Given the description of an element on the screen output the (x, y) to click on. 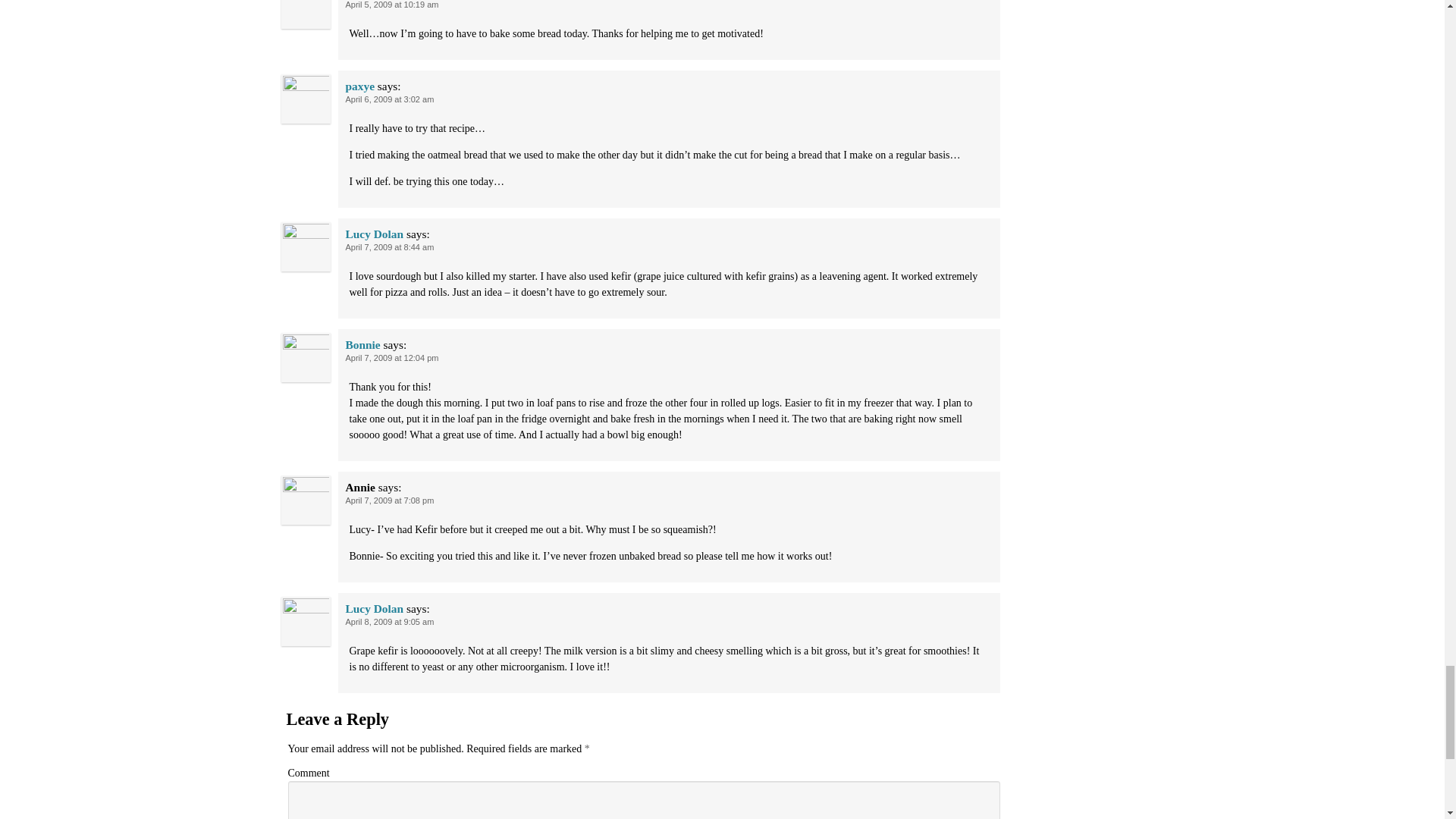
April 8, 2009 at 9:05 am (389, 621)
April 5, 2009 at 10:19 am (392, 4)
paxye (360, 85)
April 7, 2009 at 8:44 am (389, 246)
April 6, 2009 at 3:02 am (389, 99)
Lucy Dolan (375, 608)
April 7, 2009 at 12:04 pm (392, 357)
April 7, 2009 at 7:08 pm (389, 500)
Bonnie (363, 344)
Lucy Dolan (375, 233)
